Given the description of an element on the screen output the (x, y) to click on. 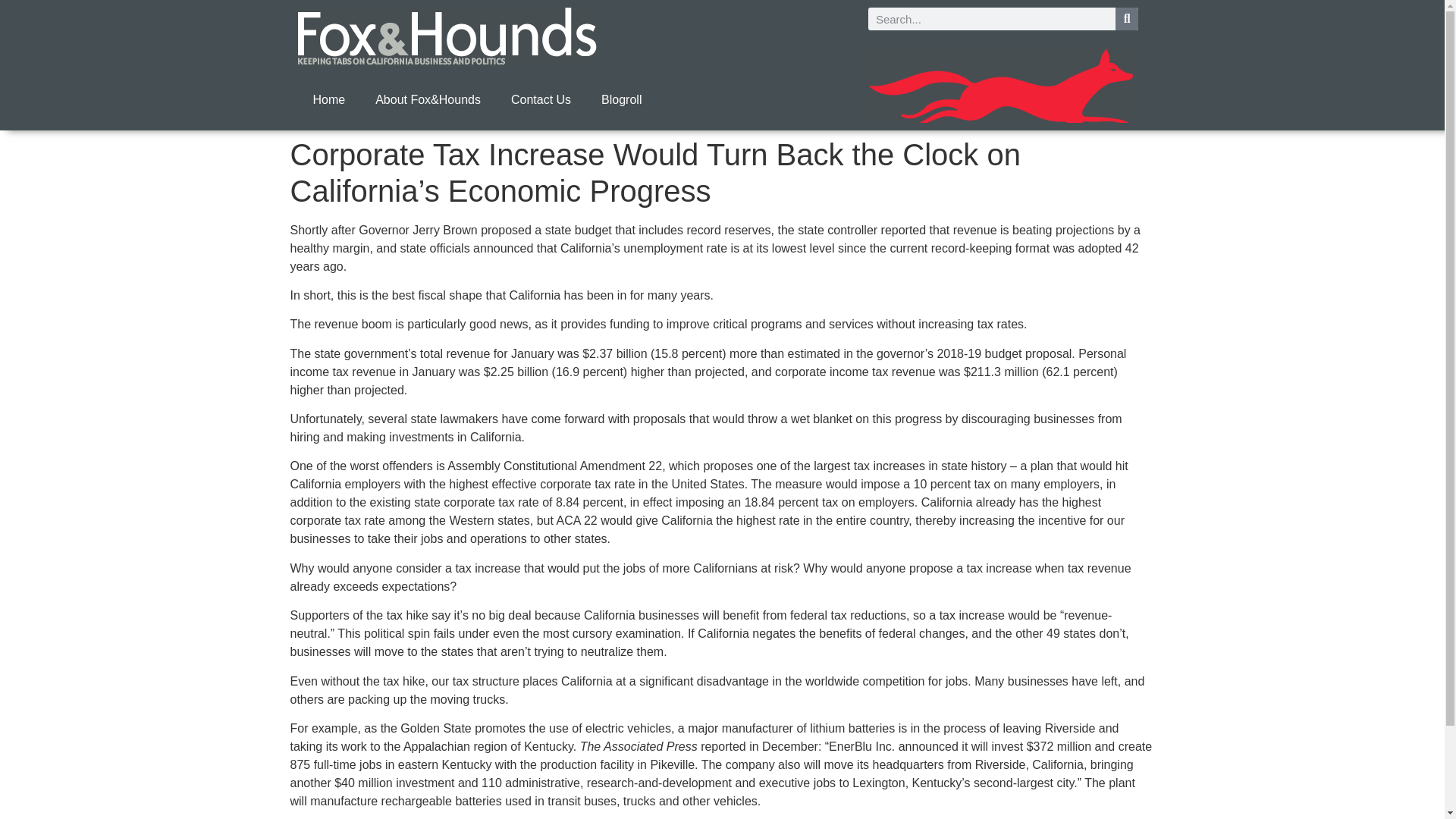
Blogroll (621, 99)
Contact Us (541, 99)
Home (328, 99)
